Given the description of an element on the screen output the (x, y) to click on. 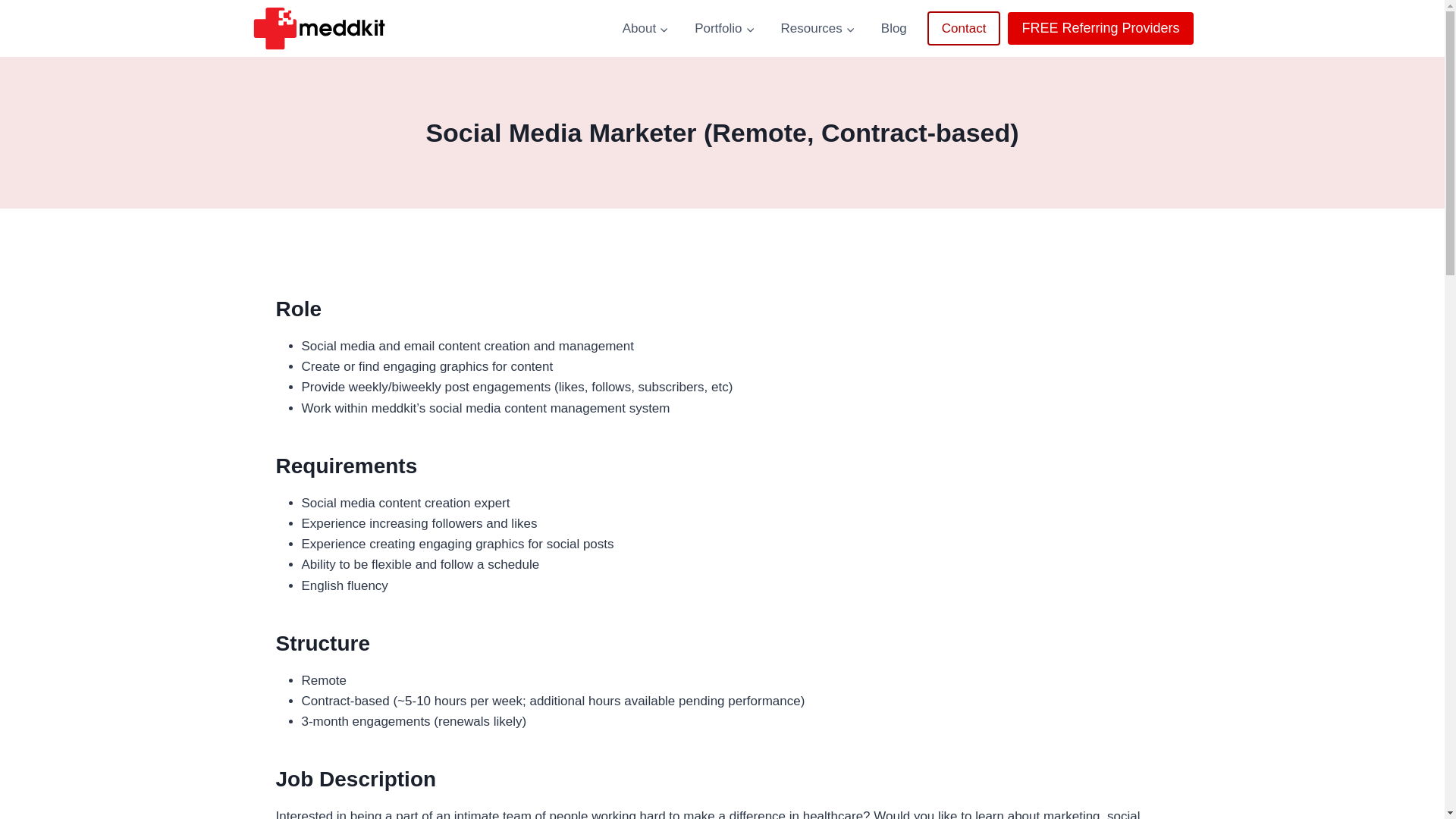
Resources (817, 28)
About (645, 28)
Blog (893, 28)
Portfolio (724, 28)
FREE Referring Providers (1099, 28)
Contact (964, 28)
